Given the description of an element on the screen output the (x, y) to click on. 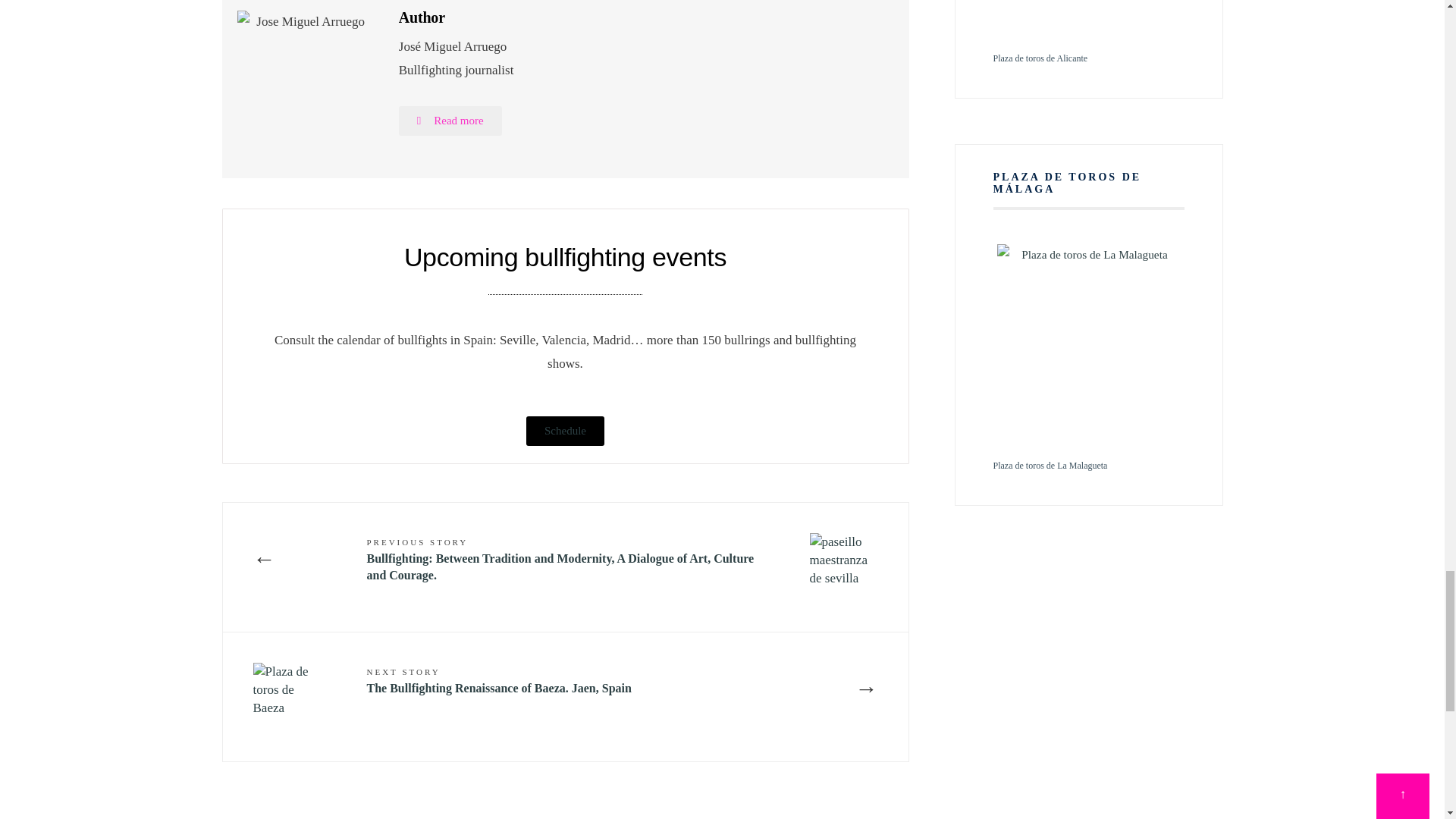
Jose Miguel Arruego (450, 120)
Bullfighting calendar (564, 430)
